Given the description of an element on the screen output the (x, y) to click on. 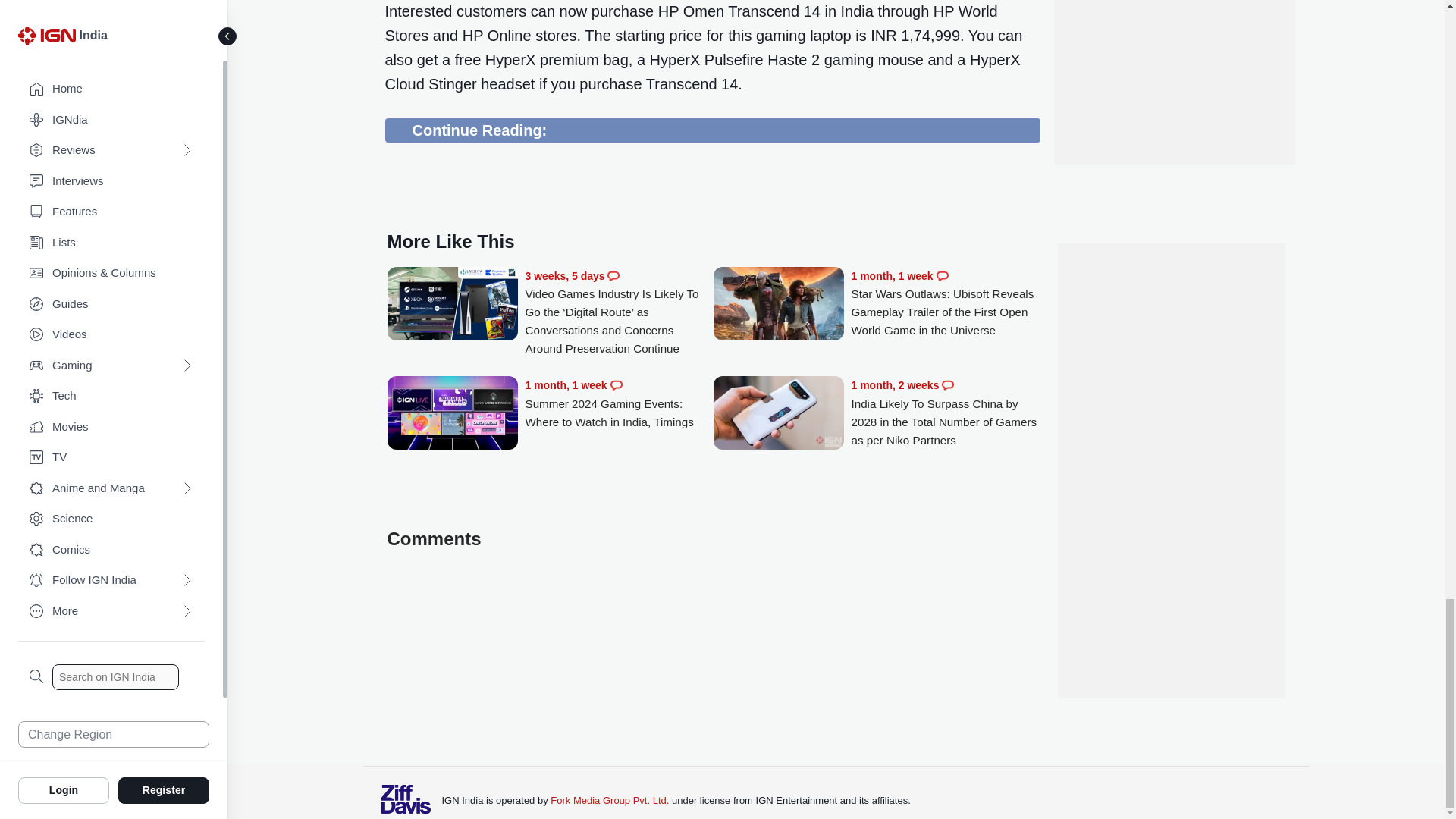
Summer 2024 Gaming Events: Where to Watch in India, Timings (618, 403)
Summer 2024 Gaming Events: Where to Watch in India, Timings (451, 413)
